Given the description of an element on the screen output the (x, y) to click on. 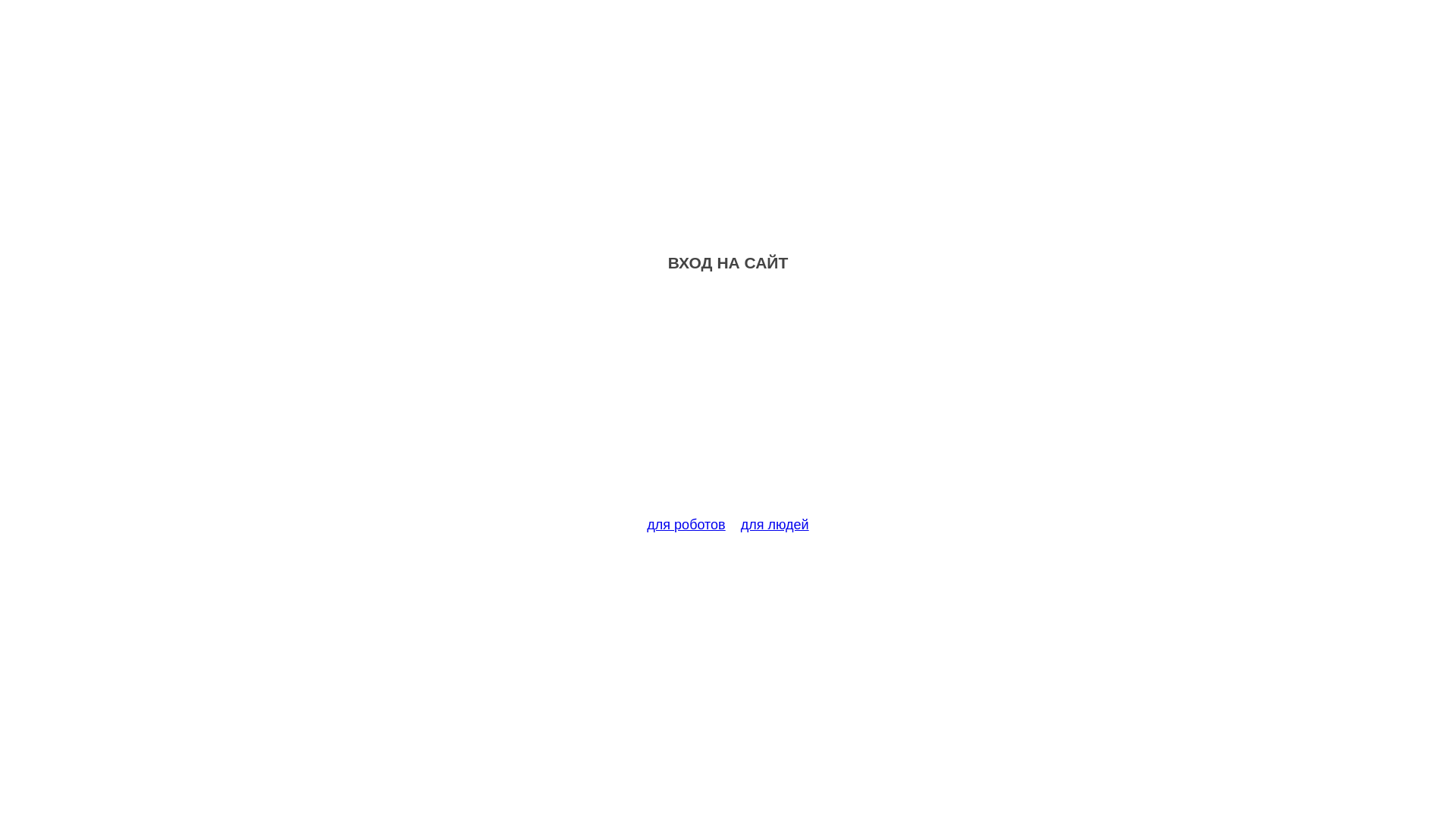
Advertisement Element type: hover (727, 403)
